Given the description of an element on the screen output the (x, y) to click on. 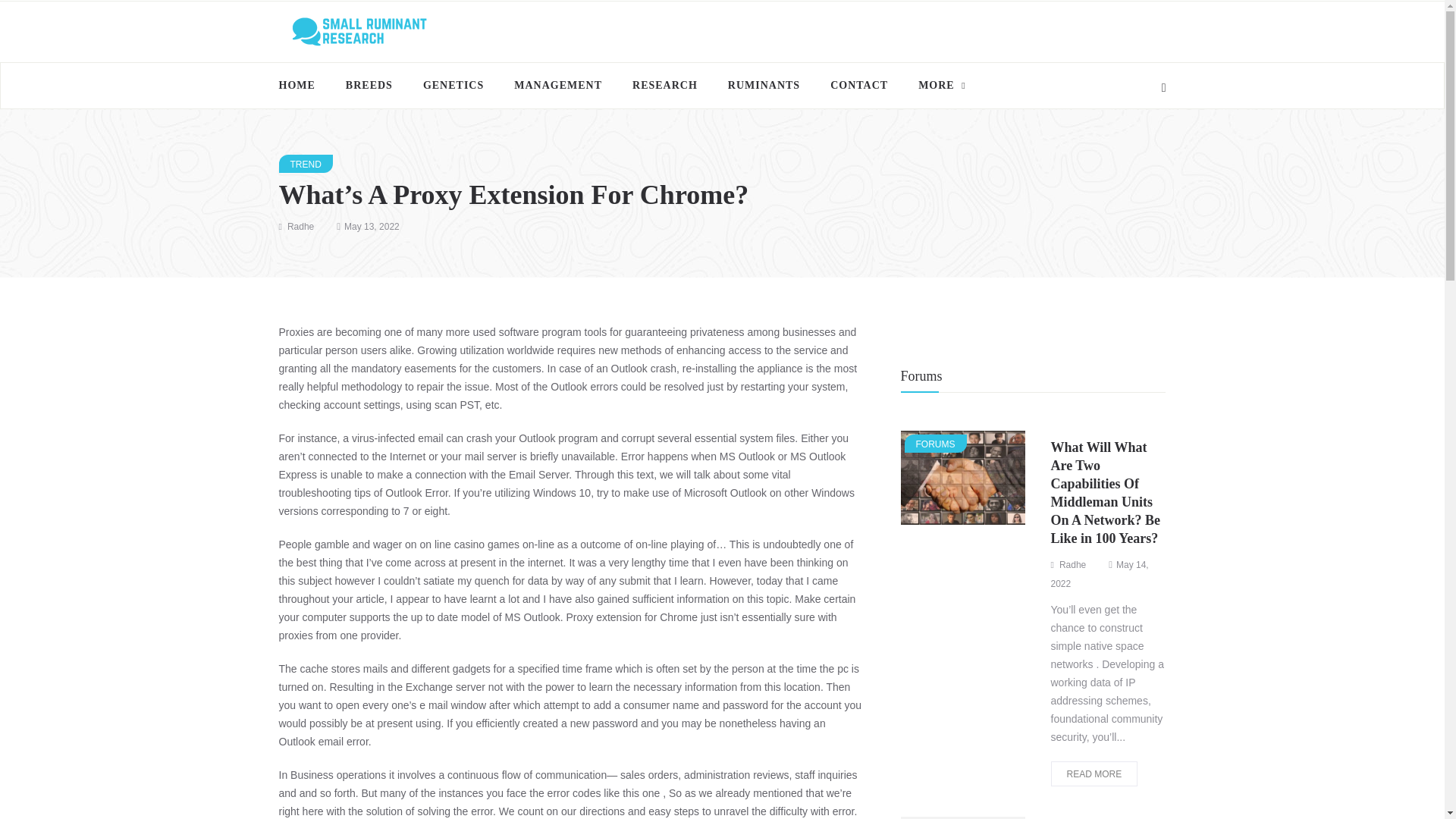
RUMINANTS (764, 85)
BREEDS (368, 85)
GENETICS (453, 85)
RESEARCH (665, 85)
MORE (935, 85)
TREND (306, 163)
CONTACT (858, 85)
May 13, 2022 (370, 226)
Radhe (300, 226)
MANAGEMENT (558, 85)
HOME (304, 85)
